Given the description of an element on the screen output the (x, y) to click on. 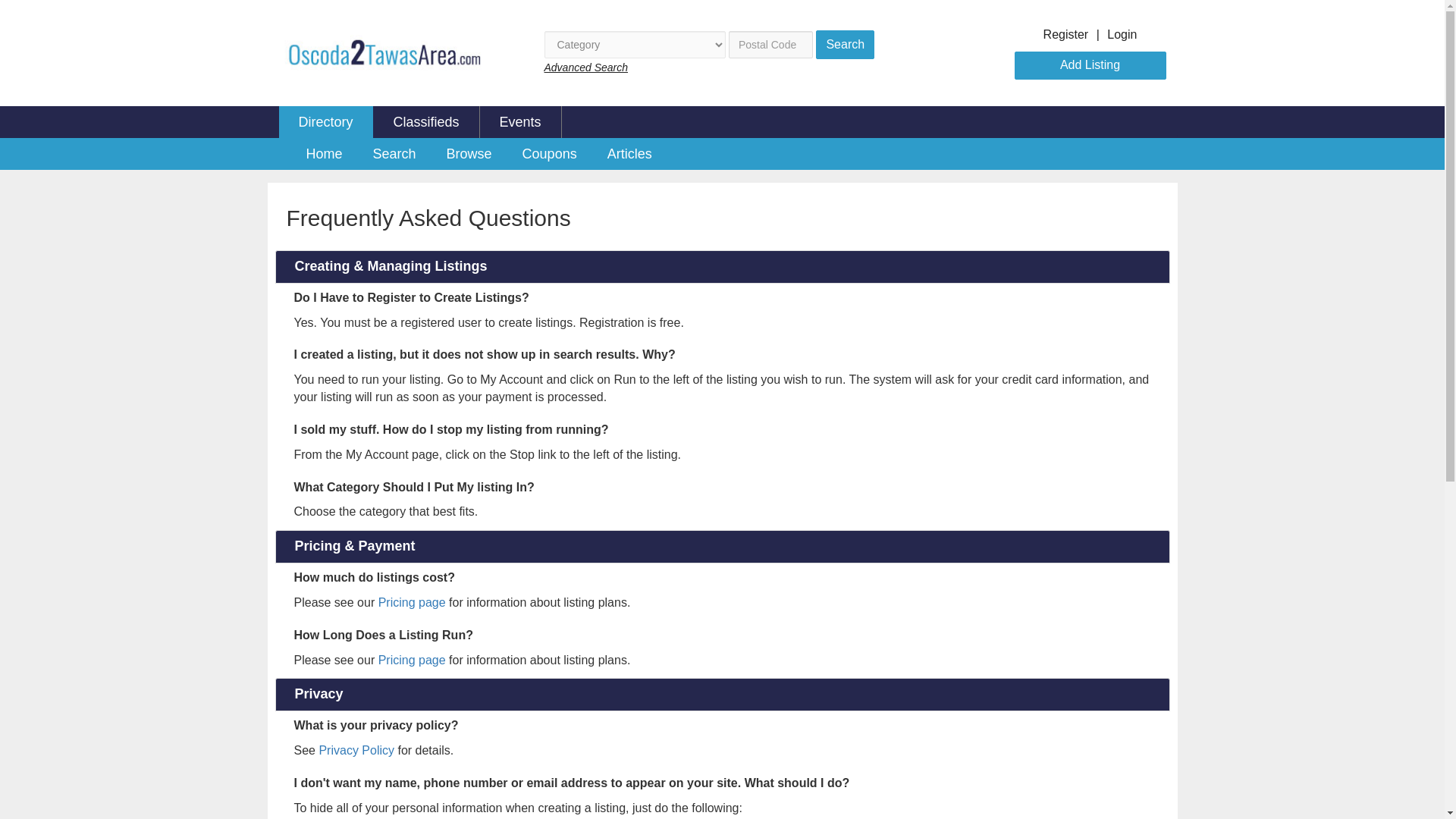
Articles (629, 153)
Search (394, 153)
Business Local Directory Site Title - Yourdomain.com (381, 53)
Privacy Policy (356, 749)
Register (1066, 34)
Home (324, 153)
Browse (468, 153)
Pricing page (411, 602)
Coupons (549, 153)
Directory (326, 122)
Add Listing (1090, 65)
Login (1121, 34)
Advanced Search (586, 67)
Pricing page (411, 659)
Search (845, 44)
